Given the description of an element on the screen output the (x, y) to click on. 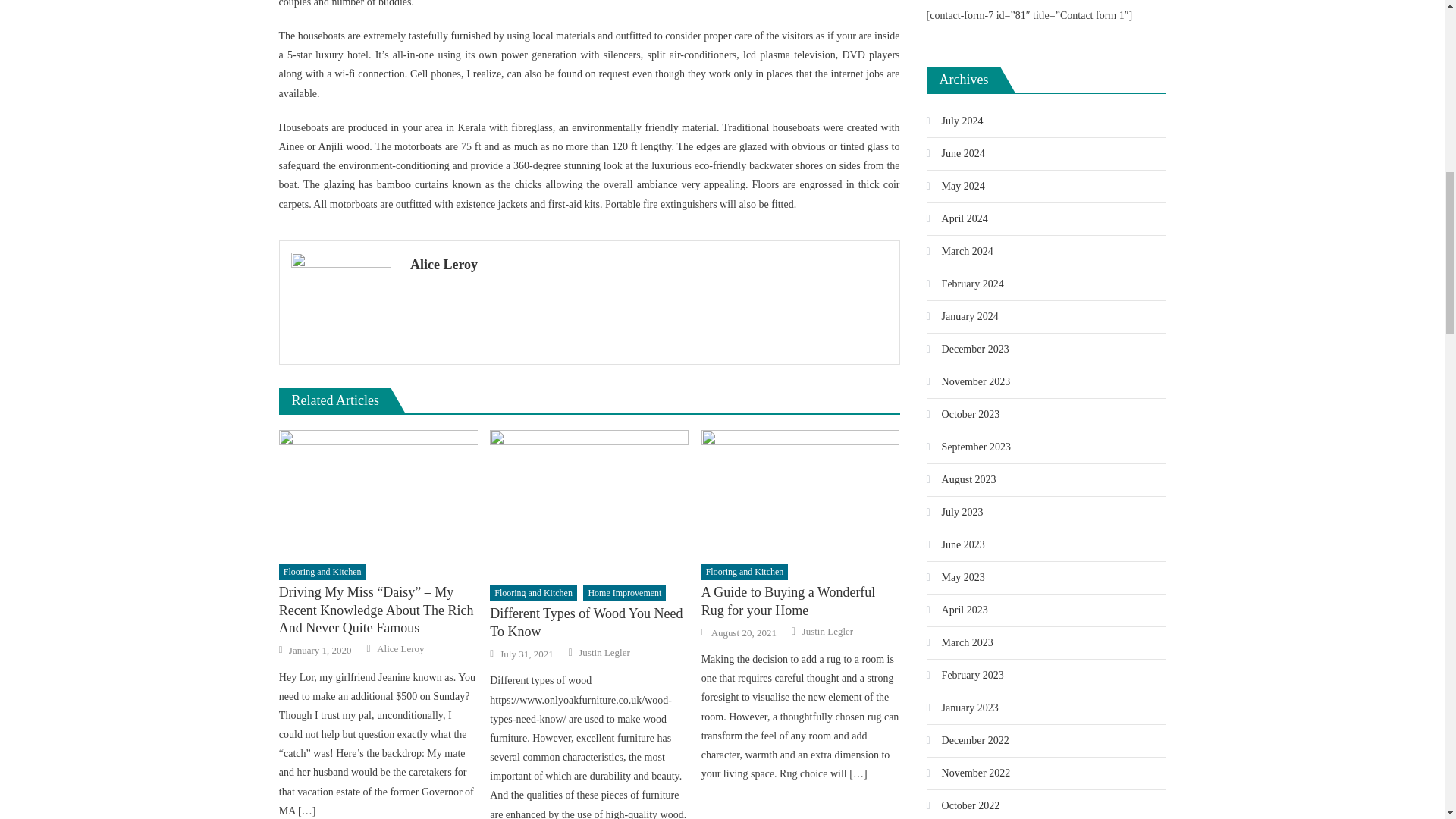
Different Types of Wood You Need To Know (588, 622)
Flooring and Kitchen (322, 572)
A Guide to Buying a Wonderful Rug for your Home (800, 491)
Different Types of Wood You Need To Know (588, 502)
Home Improvement (624, 593)
A Guide to Buying a Wonderful Rug for your Home (800, 601)
Alice Leroy (400, 649)
Alice Leroy (649, 264)
Flooring and Kitchen (532, 593)
January 1, 2020 (320, 650)
July 31, 2021 (526, 653)
August 20, 2021 (743, 632)
Justin Legler (604, 653)
Justin Legler (827, 631)
Flooring and Kitchen (745, 572)
